Given the description of an element on the screen output the (x, y) to click on. 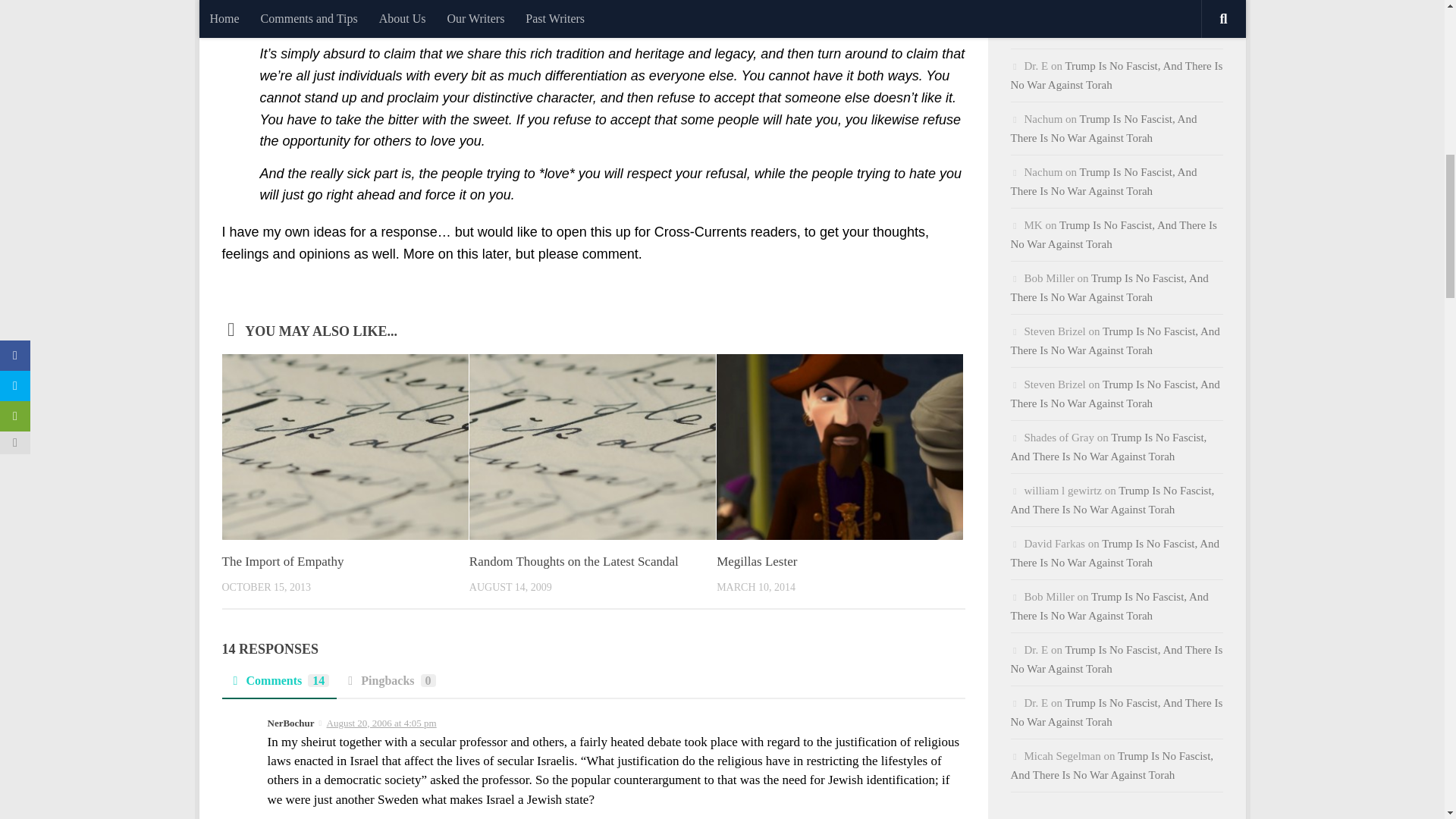
Random Thoughts on the Latest Scandal (573, 561)
August 20, 2006 at 4:05 pm (381, 722)
Comments14 (278, 685)
Pingbacks0 (389, 685)
The Import of Empathy (282, 561)
Megillas Lester (756, 561)
